Given the description of an element on the screen output the (x, y) to click on. 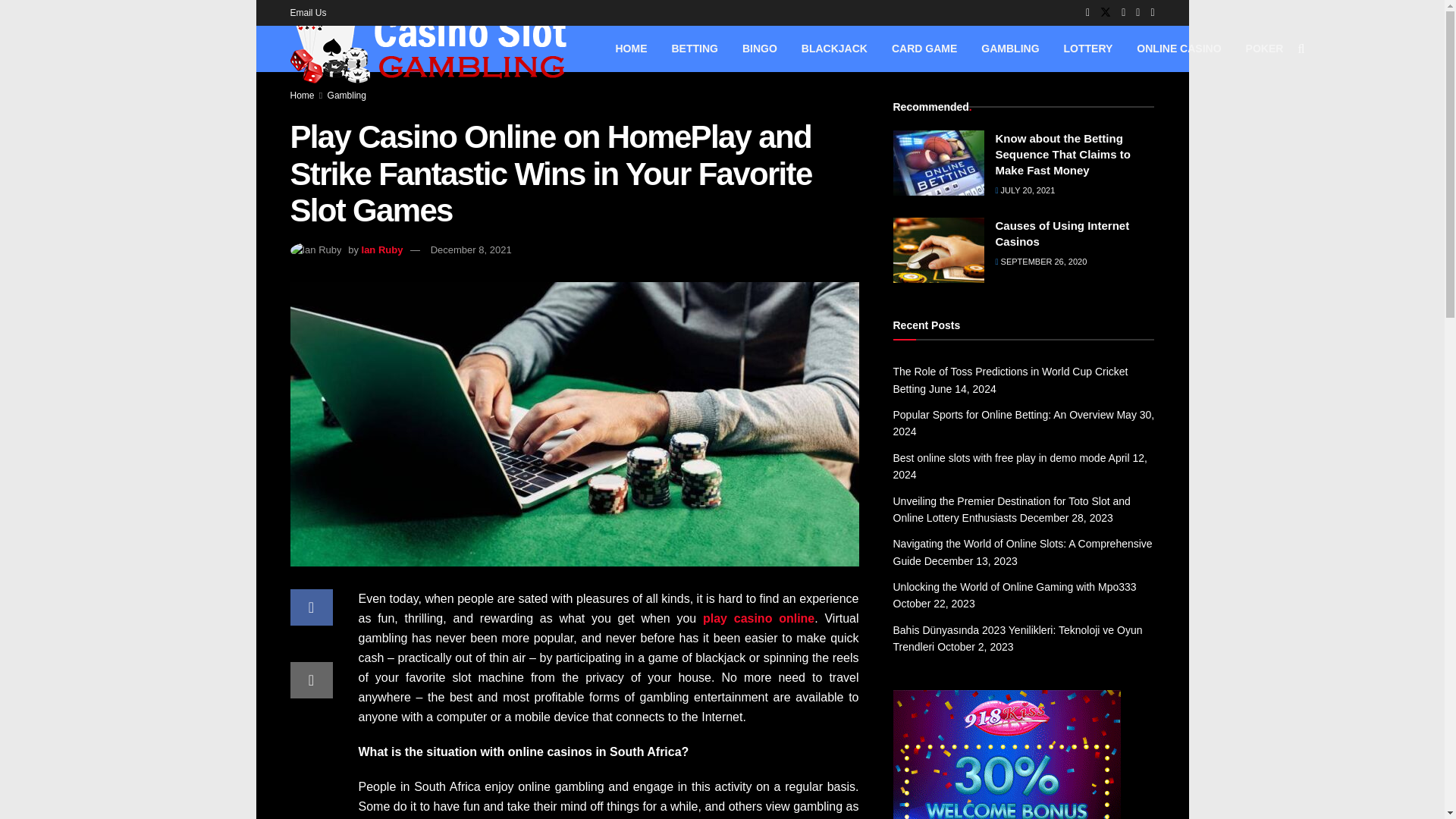
CARD GAME (924, 48)
Home (301, 95)
BLACKJACK (834, 48)
GAMBLING (1010, 48)
Email Us (307, 12)
ONLINE CASINO (1178, 48)
LOTTERY (1088, 48)
HOME (631, 48)
Gambling (346, 95)
POKER (1264, 48)
BETTING (694, 48)
BINGO (759, 48)
